Given the description of an element on the screen output the (x, y) to click on. 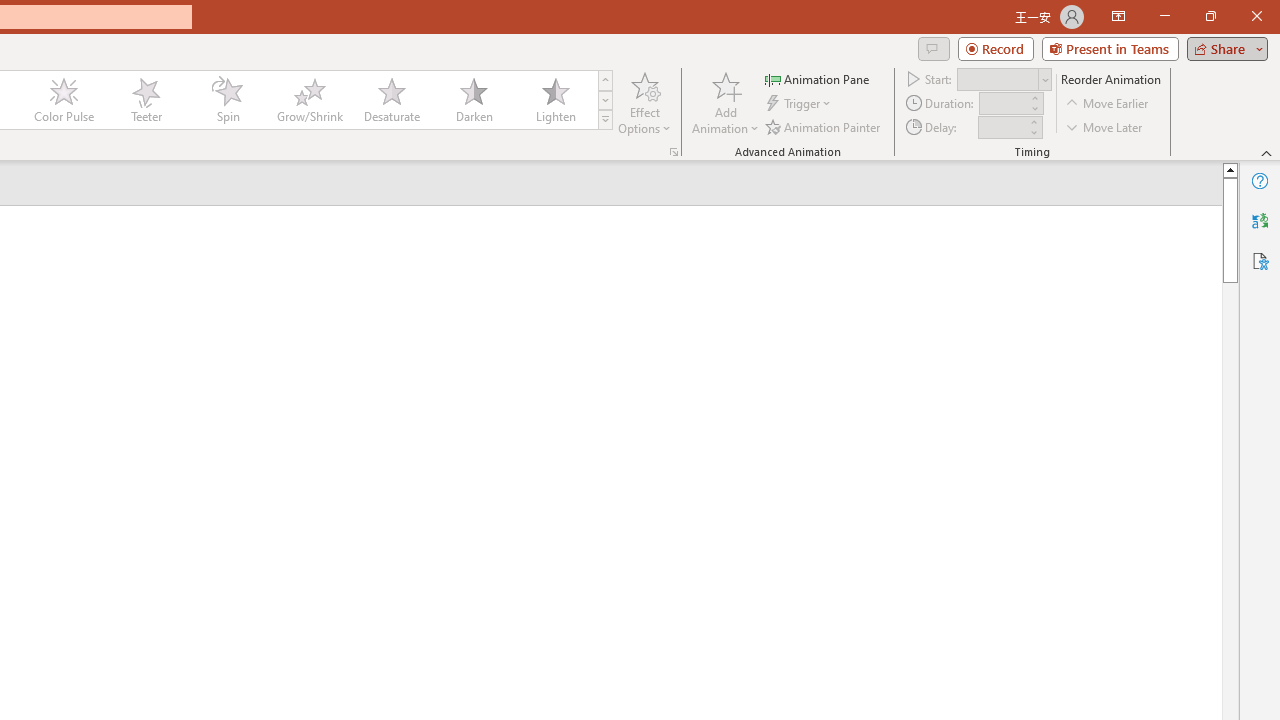
Animation Styles (605, 120)
Add Animation (725, 102)
Grow/Shrink (309, 100)
Trigger (799, 103)
Lighten (555, 100)
